Given the description of an element on the screen output the (x, y) to click on. 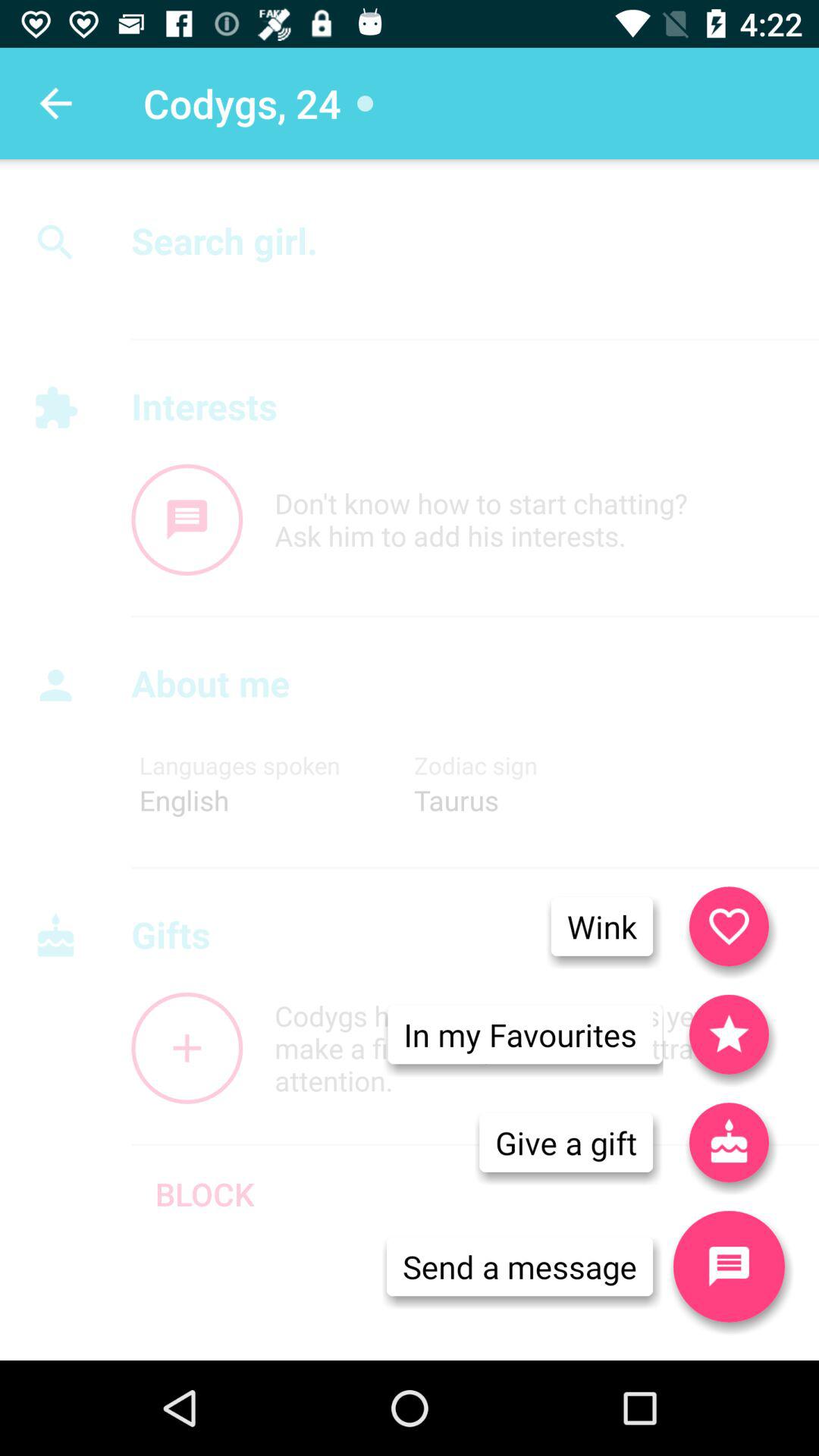
tap the icon to the right of give a gift (729, 1266)
